Given the description of an element on the screen output the (x, y) to click on. 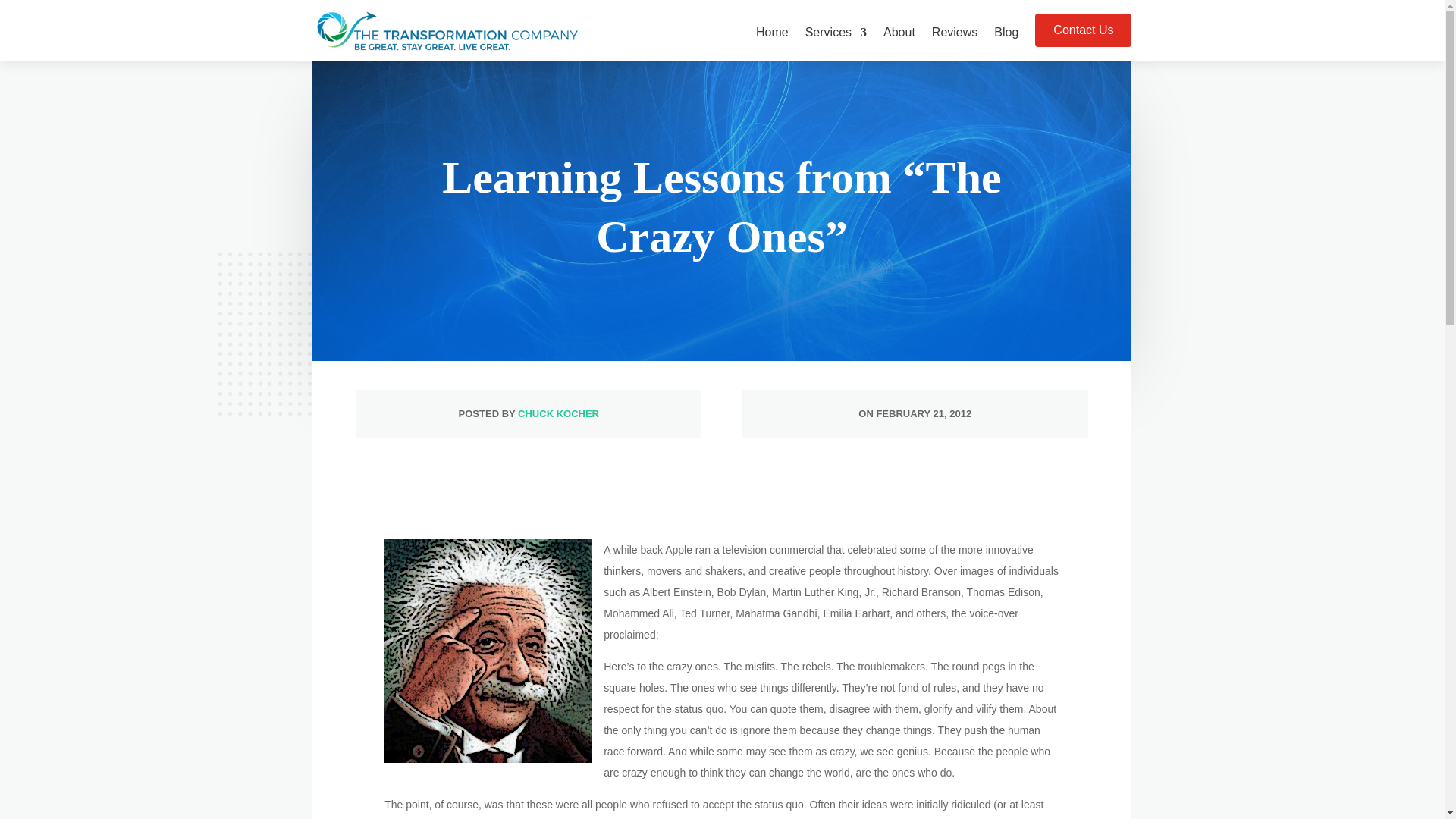
CHUCK KOCHER (558, 413)
About (899, 43)
Home (772, 43)
Transformation company (446, 30)
Services (835, 43)
Reviews (953, 43)
Contact Us (1083, 29)
